Given the description of an element on the screen output the (x, y) to click on. 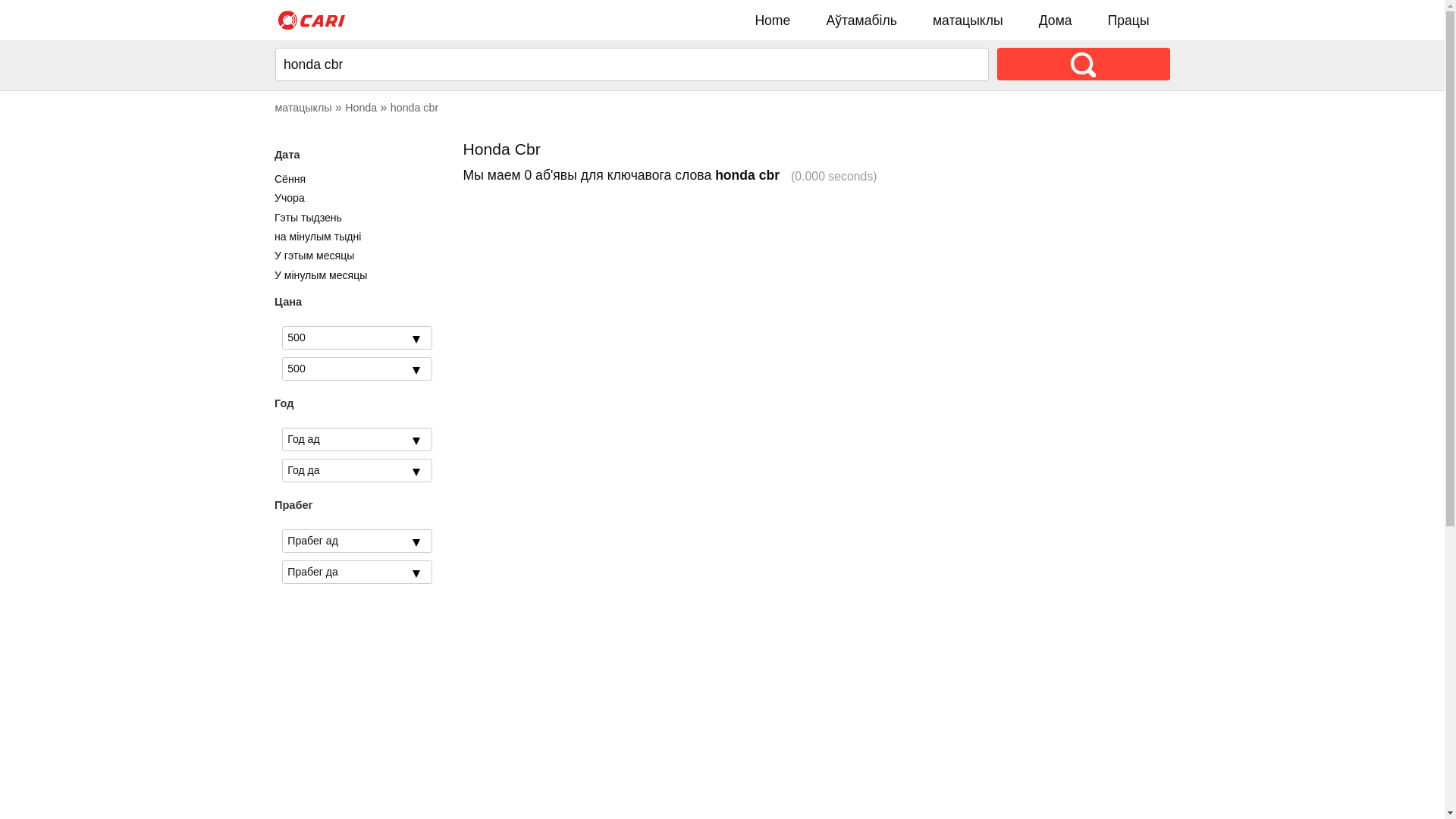
Home Element type: text (773, 20)
honda cbr Element type: text (414, 107)
Advertisement Element type: hover (722, 304)
Honda Element type: text (360, 107)
Advertisement Element type: hover (722, 532)
